Given the description of an element on the screen output the (x, y) to click on. 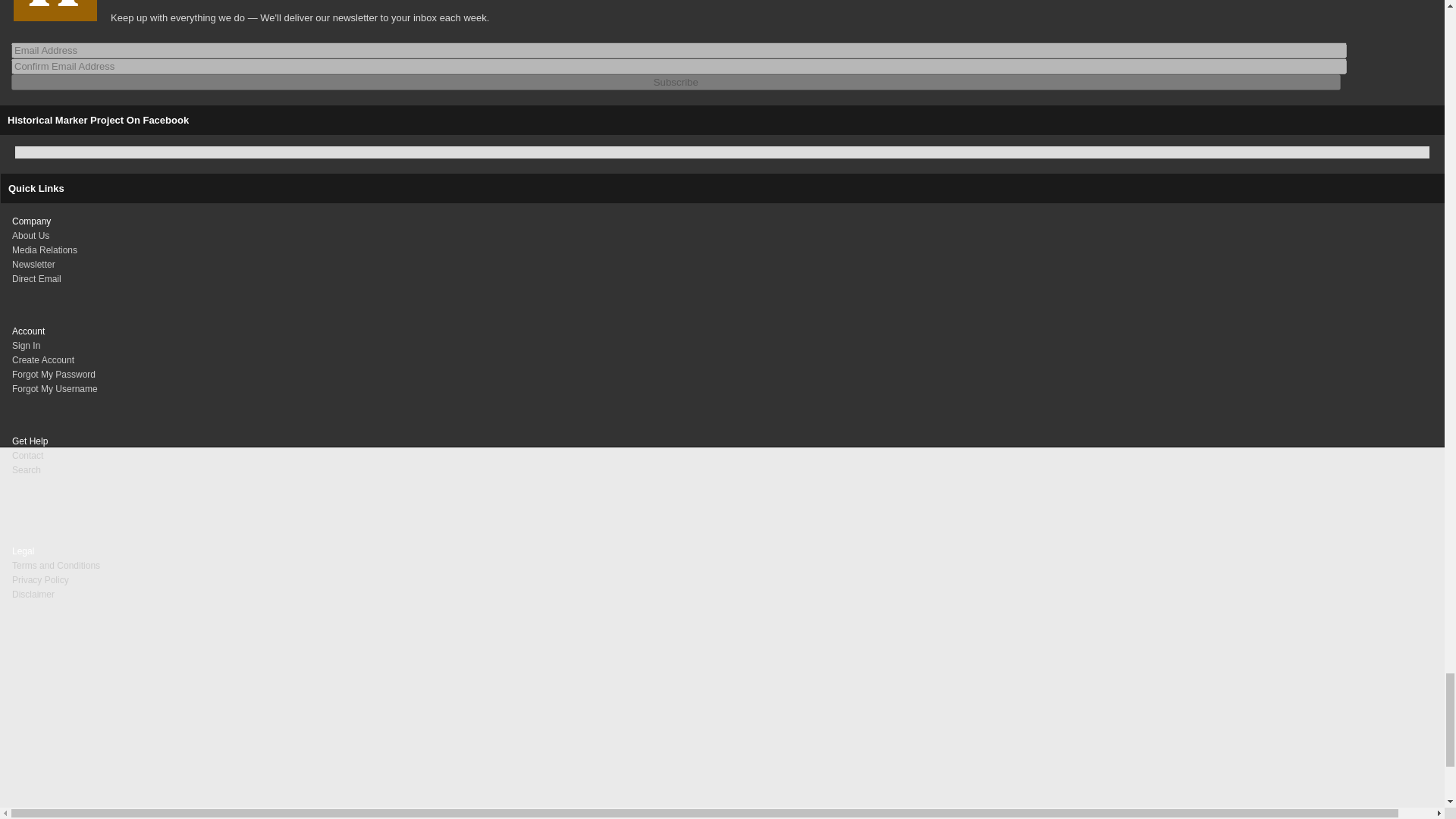
Subscribe (675, 82)
